Given the description of an element on the screen output the (x, y) to click on. 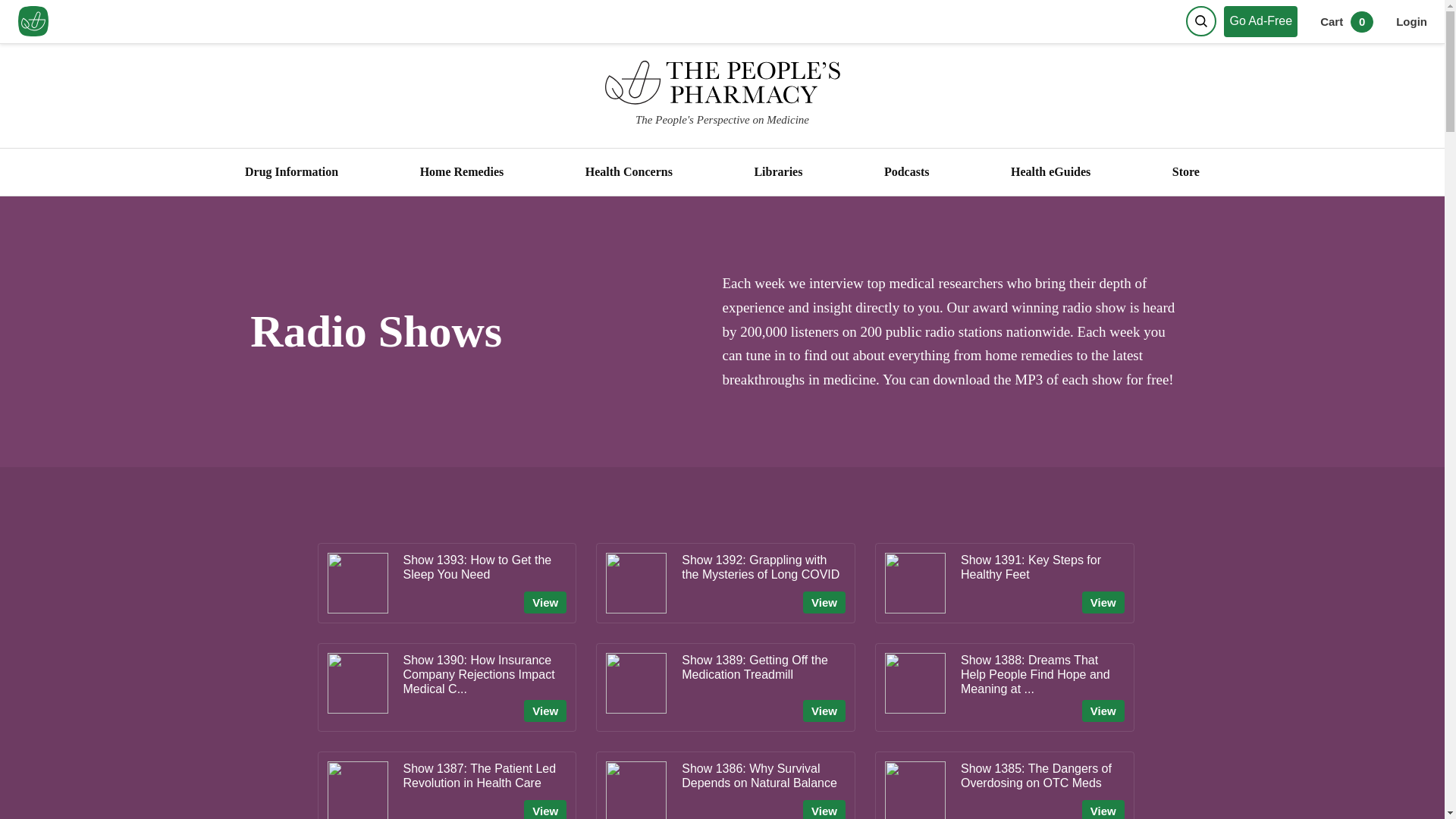
Show 1387: The Patient Led Revolution in Health Care (485, 777)
Show 1391: Key Steps for Healthy Feet (1042, 568)
View (544, 810)
Show 1385: The Dangers of Overdosing on OTC Meds (1042, 777)
View (823, 810)
Libraries (778, 172)
Show 1392: Grappling with the Mysteries of Long COVID (763, 568)
Drug Information (290, 172)
Health Concerns (628, 172)
View (823, 602)
Show 1393: How to Get the Sleep You Need (485, 568)
Podcasts (906, 172)
View (1103, 710)
